Given the description of an element on the screen output the (x, y) to click on. 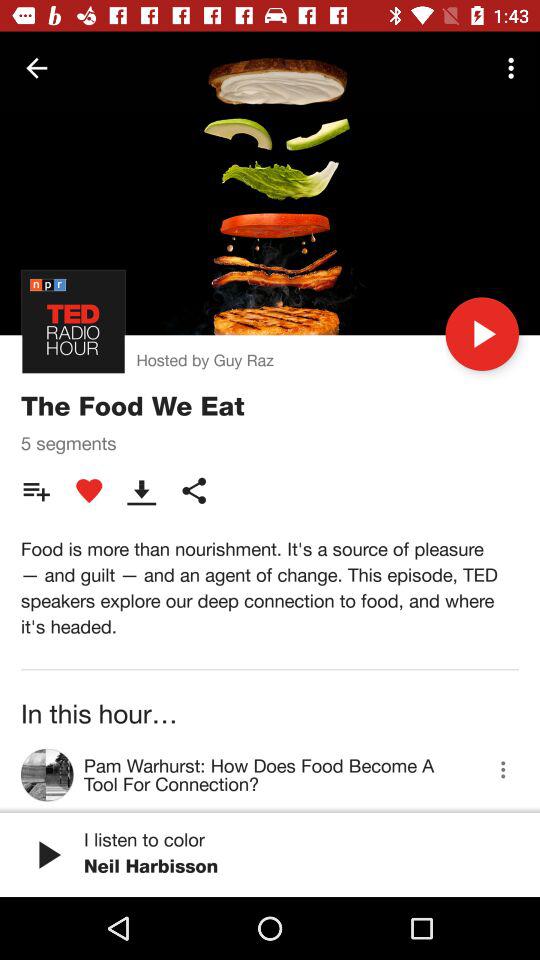
click the icon to the right of hosted by guy (482, 333)
